Given the description of an element on the screen output the (x, y) to click on. 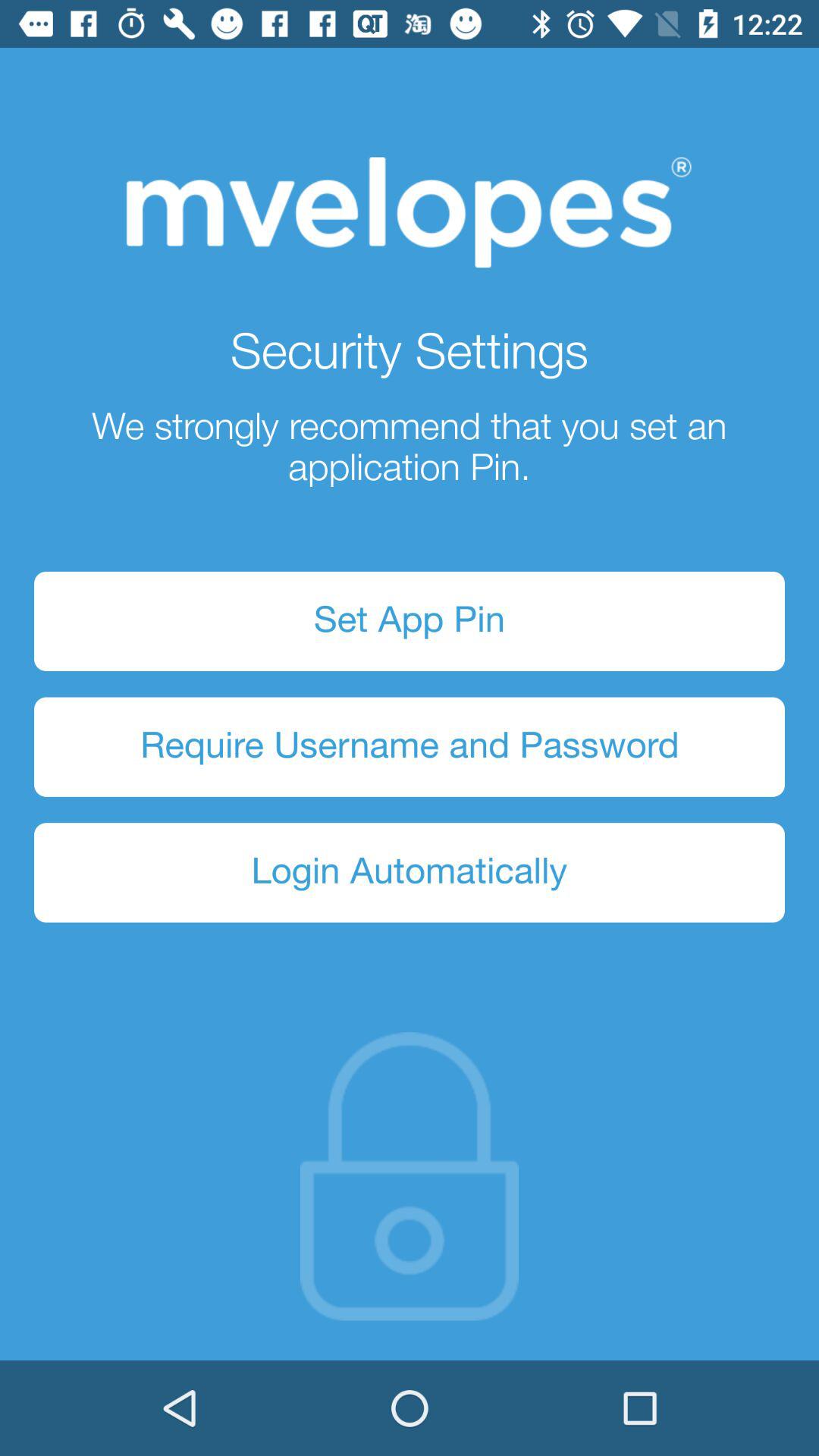
turn on the require username and (409, 746)
